Given the description of an element on the screen output the (x, y) to click on. 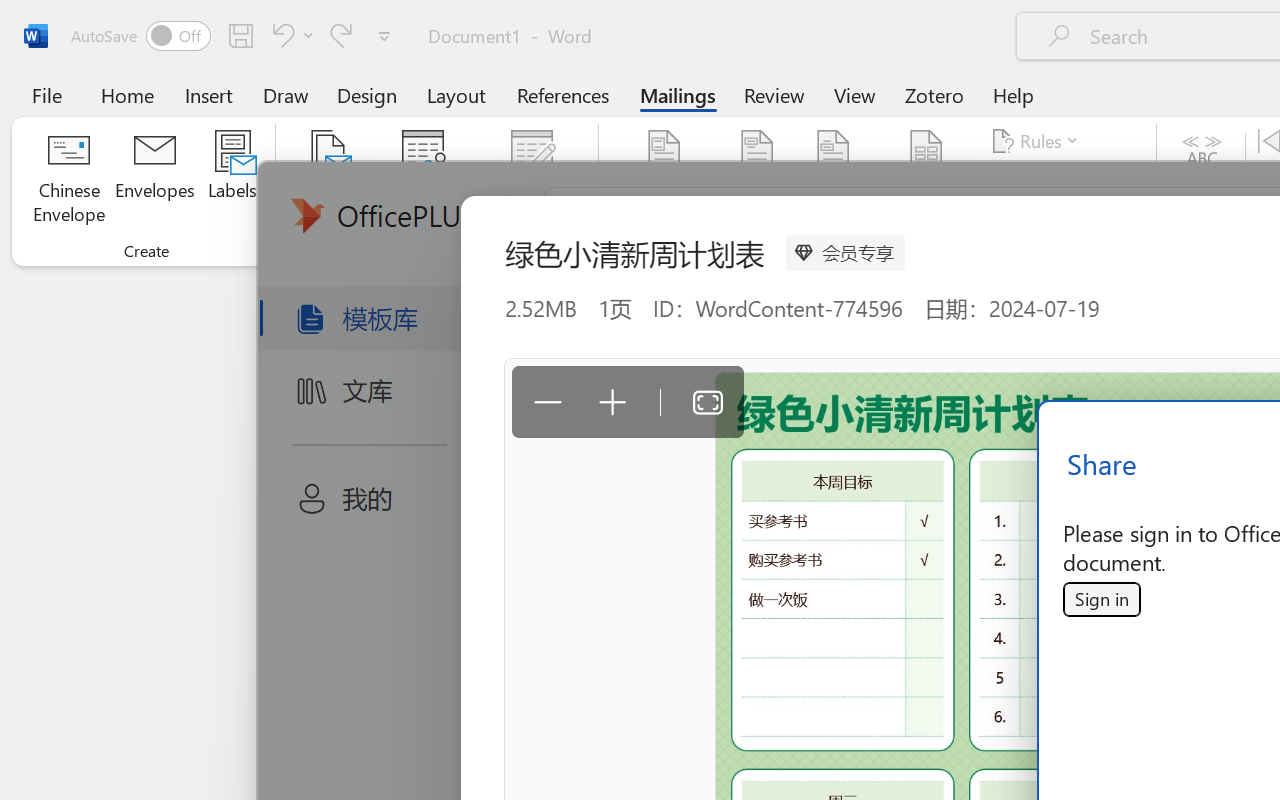
Greeting Line... (833, 179)
Select Recipients (423, 179)
Insert Merge Field (927, 151)
Update Labels (1064, 218)
Envelopes... (155, 179)
Edit Recipient List... (532, 179)
Sign in (1101, 599)
Labels... (232, 179)
Address Block... (757, 179)
